Given the description of an element on the screen output the (x, y) to click on. 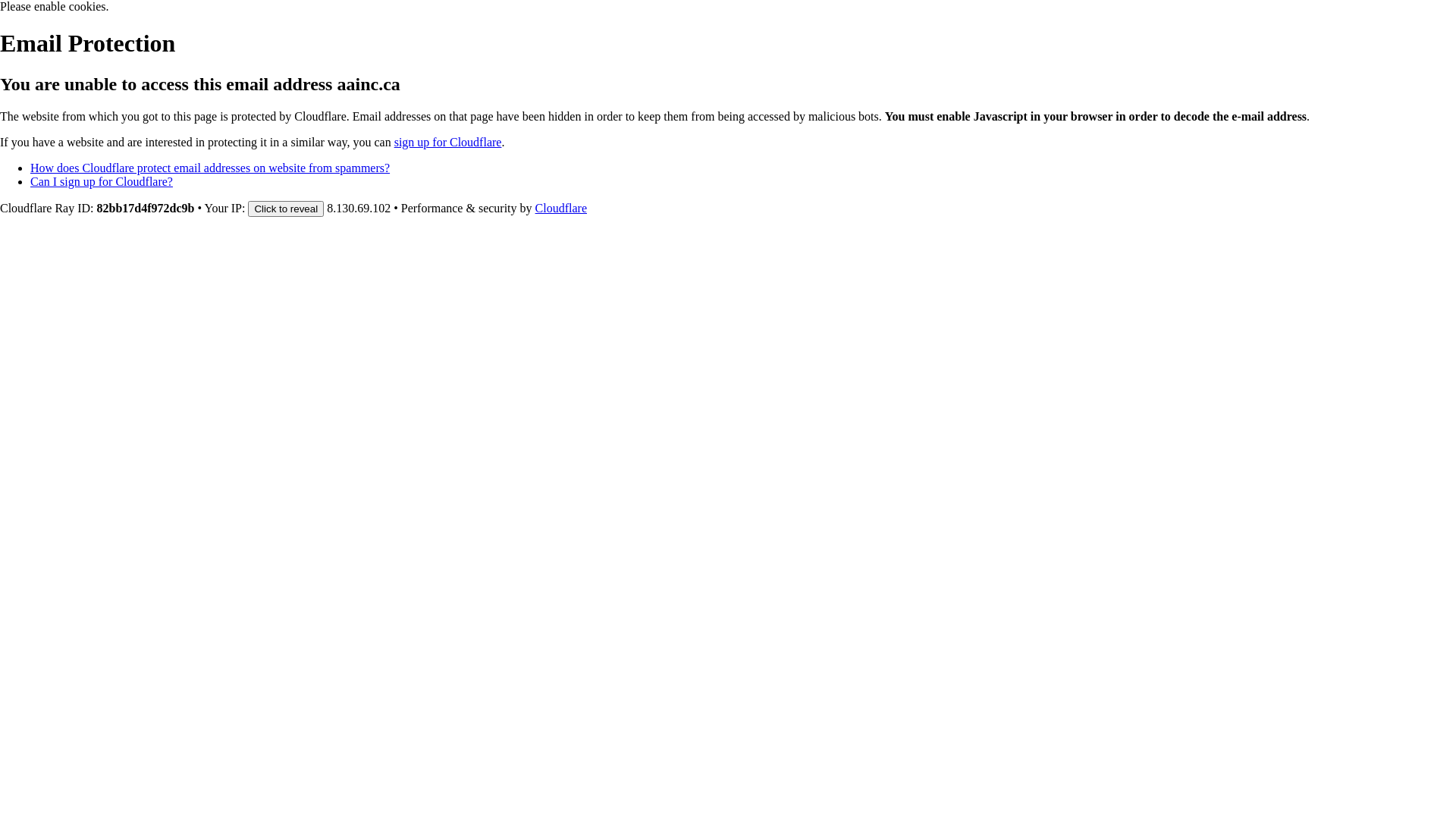
Can I sign up for Cloudflare? Element type: text (101, 181)
Click to reveal Element type: text (285, 208)
Cloudflare Element type: text (560, 207)
sign up for Cloudflare Element type: text (448, 141)
